Given the description of an element on the screen output the (x, y) to click on. 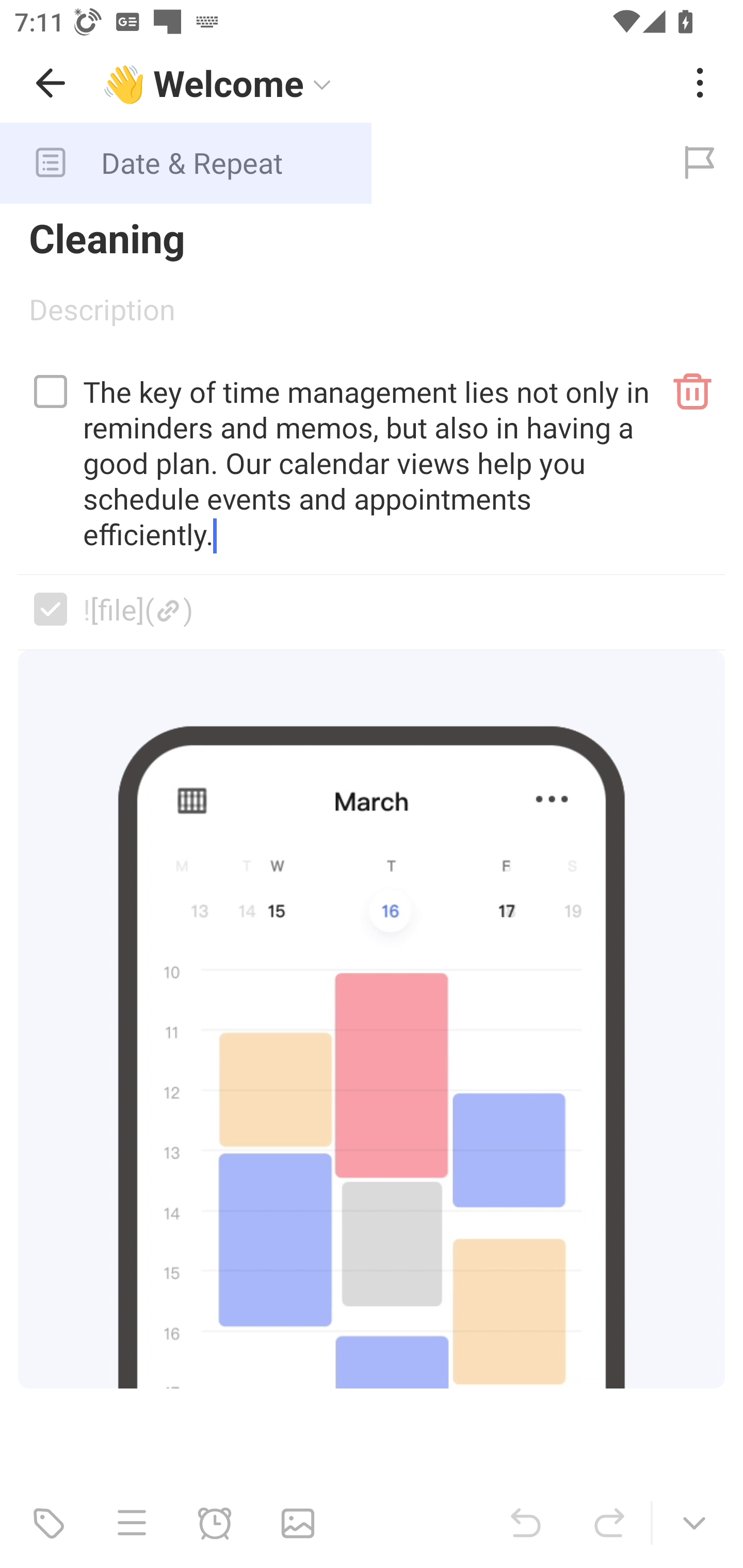
👋 Welcome (384, 82)
Date & Repeat (328, 163)
Cleaning (371, 237)
Description (371, 315)
  (50, 390)
  (50, 608)
